Given the description of an element on the screen output the (x, y) to click on. 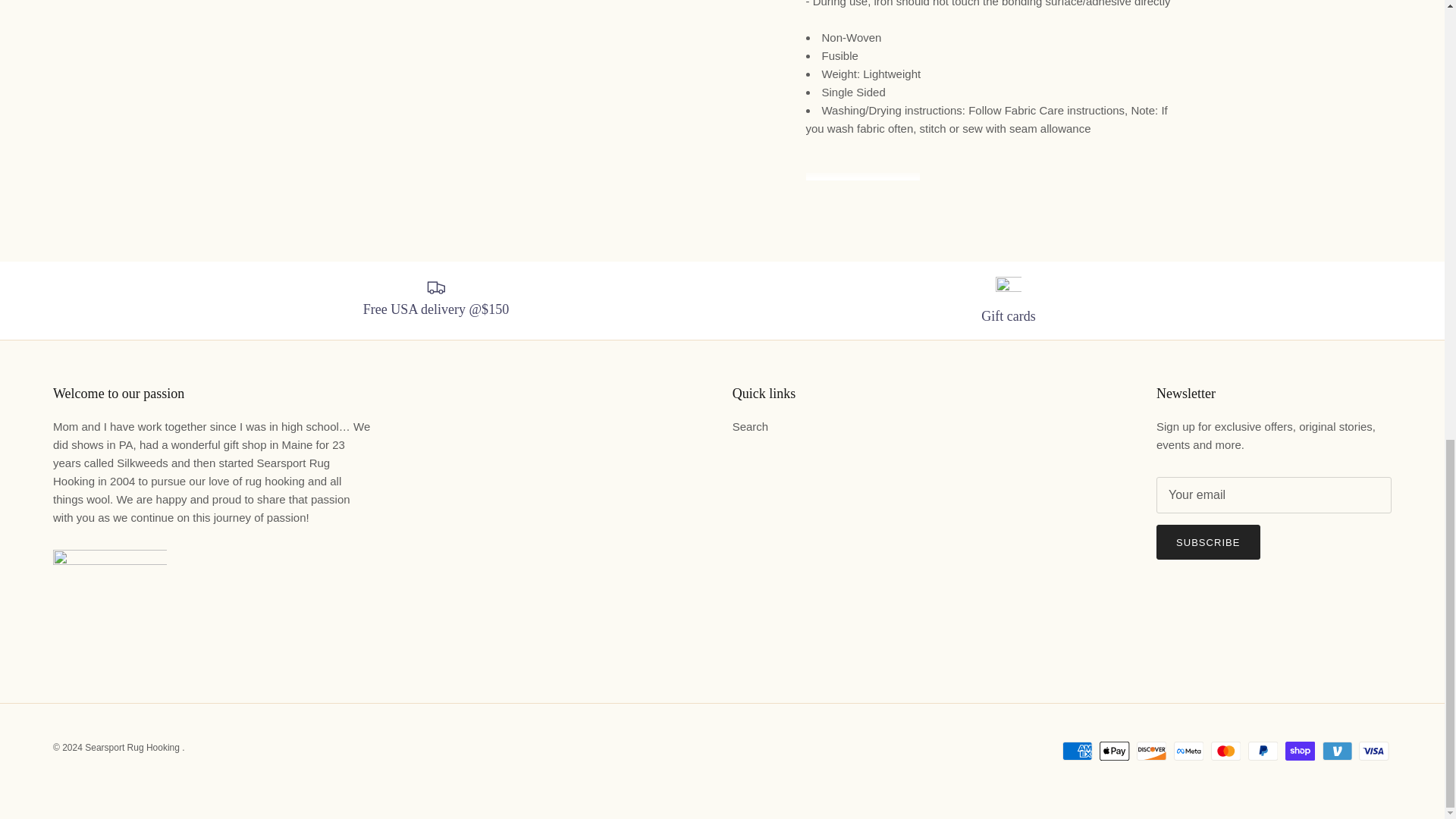
American Express (1077, 751)
